Given the description of an element on the screen output the (x, y) to click on. 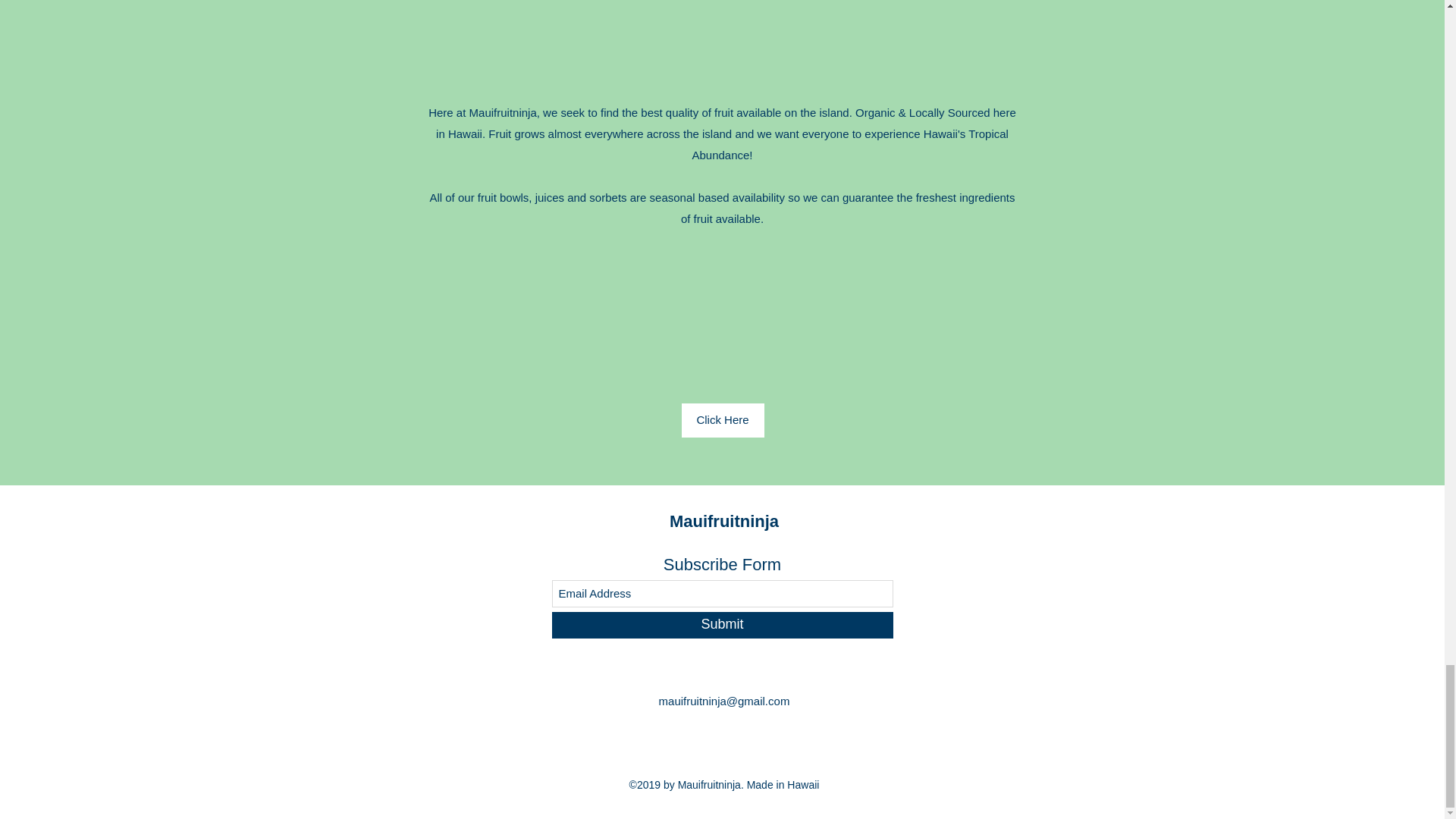
Click Here (721, 419)
Mauifruitninja (723, 520)
Submit (722, 624)
